Given the description of an element on the screen output the (x, y) to click on. 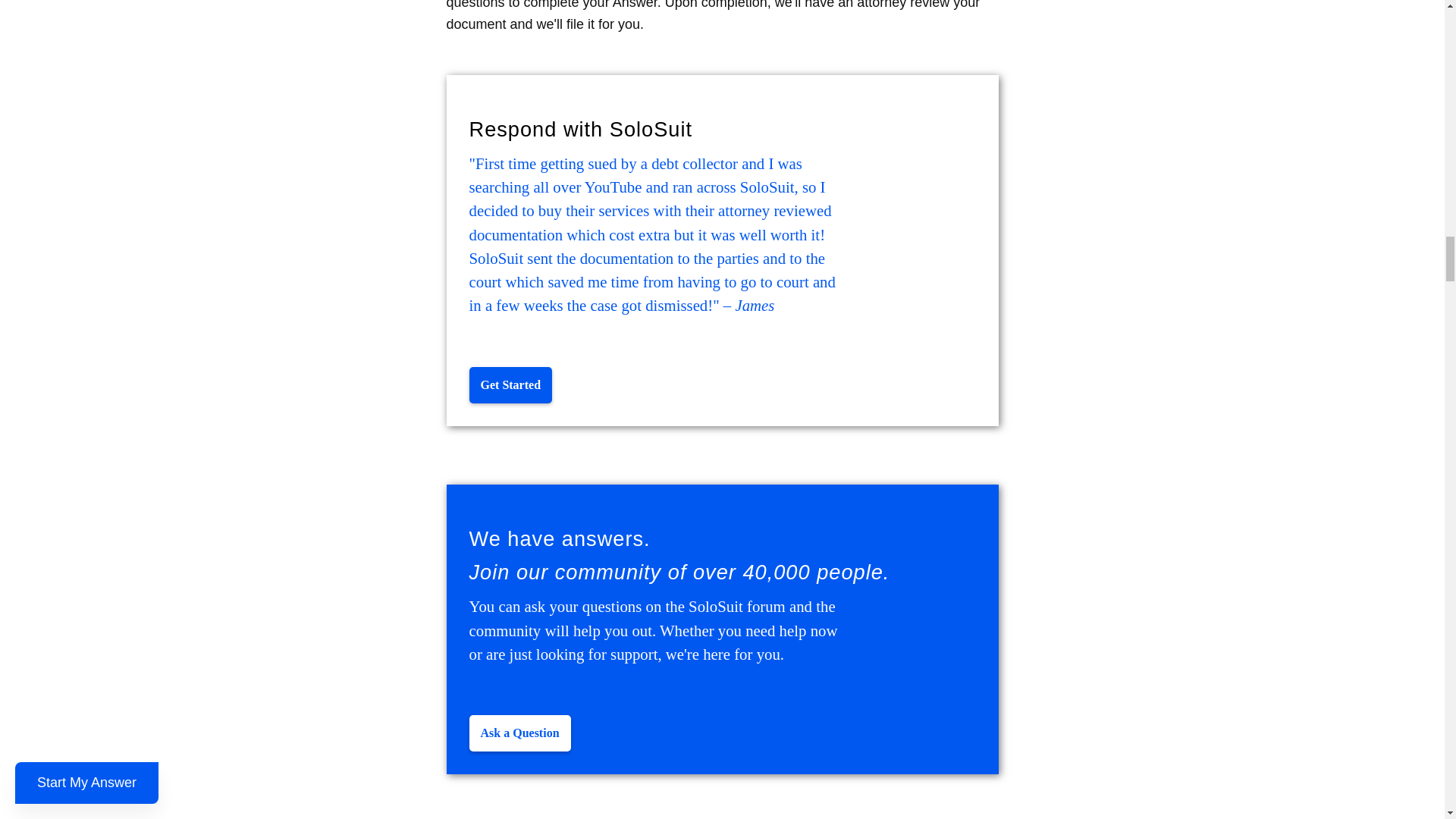
Ask a Question (519, 732)
Get Started (509, 384)
